Given the description of an element on the screen output the (x, y) to click on. 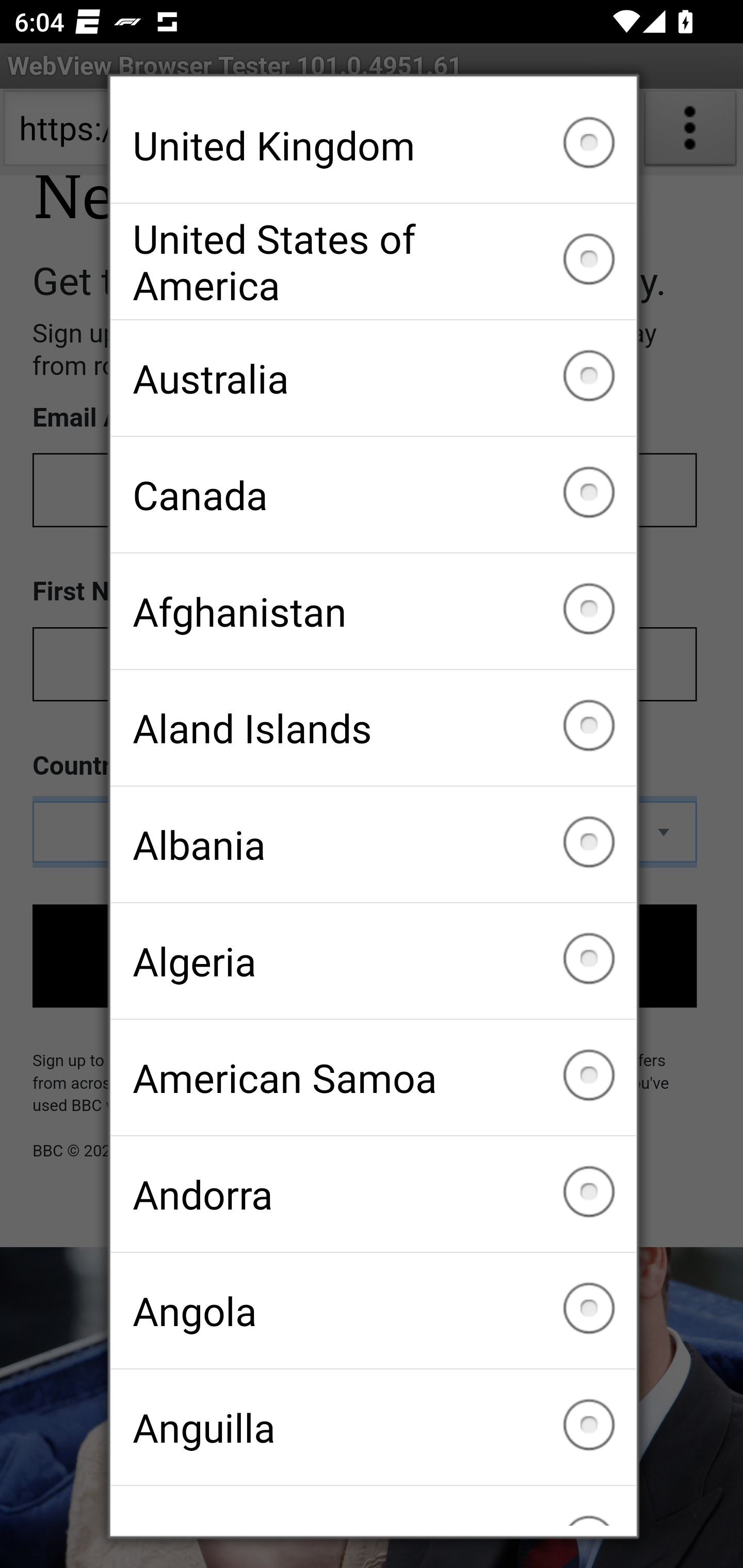
United Kingdom (373, 144)
United States of America (373, 261)
Australia (373, 377)
Canada (373, 494)
Afghanistan (373, 611)
Aland Islands (373, 727)
Albania (373, 844)
Algeria (373, 961)
American Samoa (373, 1077)
Andorra (373, 1193)
Angola (373, 1310)
Anguilla (373, 1426)
